Given the description of an element on the screen output the (x, y) to click on. 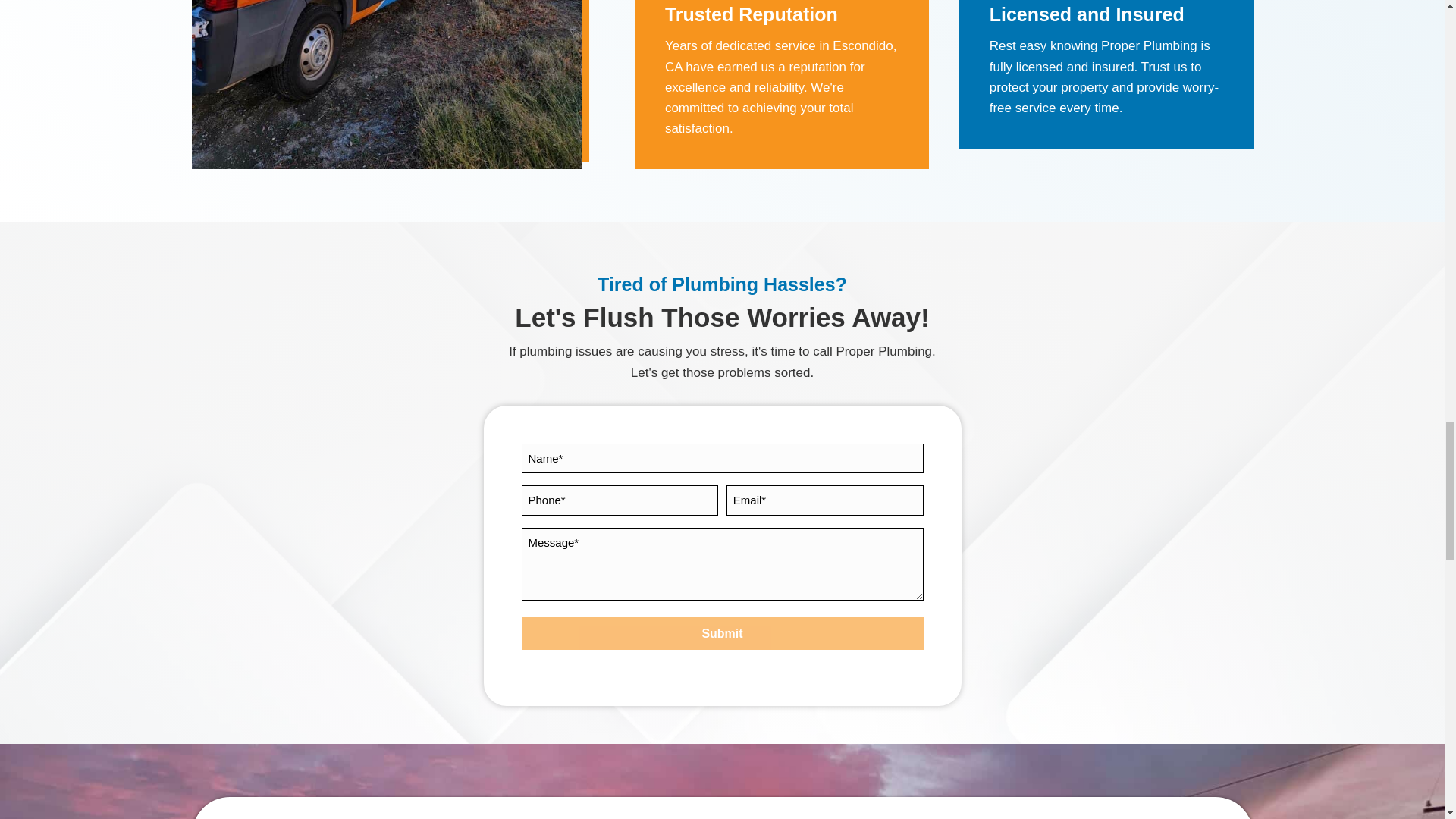
Submit (722, 633)
Submit (722, 633)
